Given the description of an element on the screen output the (x, y) to click on. 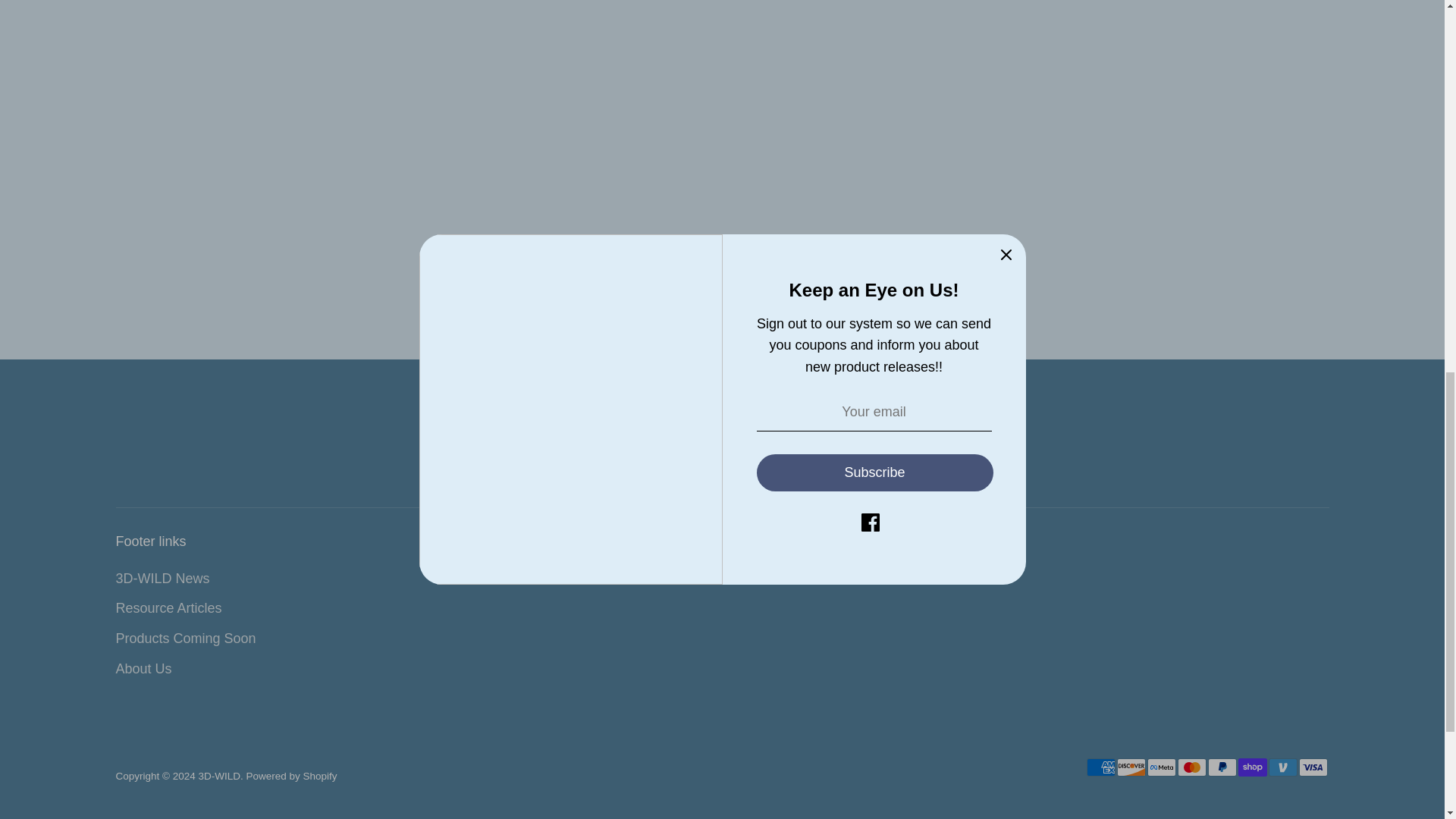
Venmo (1282, 767)
Shop Pay (1251, 767)
Mastercard (1190, 767)
PayPal (1221, 767)
American Express (1100, 767)
Discover (1130, 767)
Meta Pay (1160, 767)
